Given the description of an element on the screen output the (x, y) to click on. 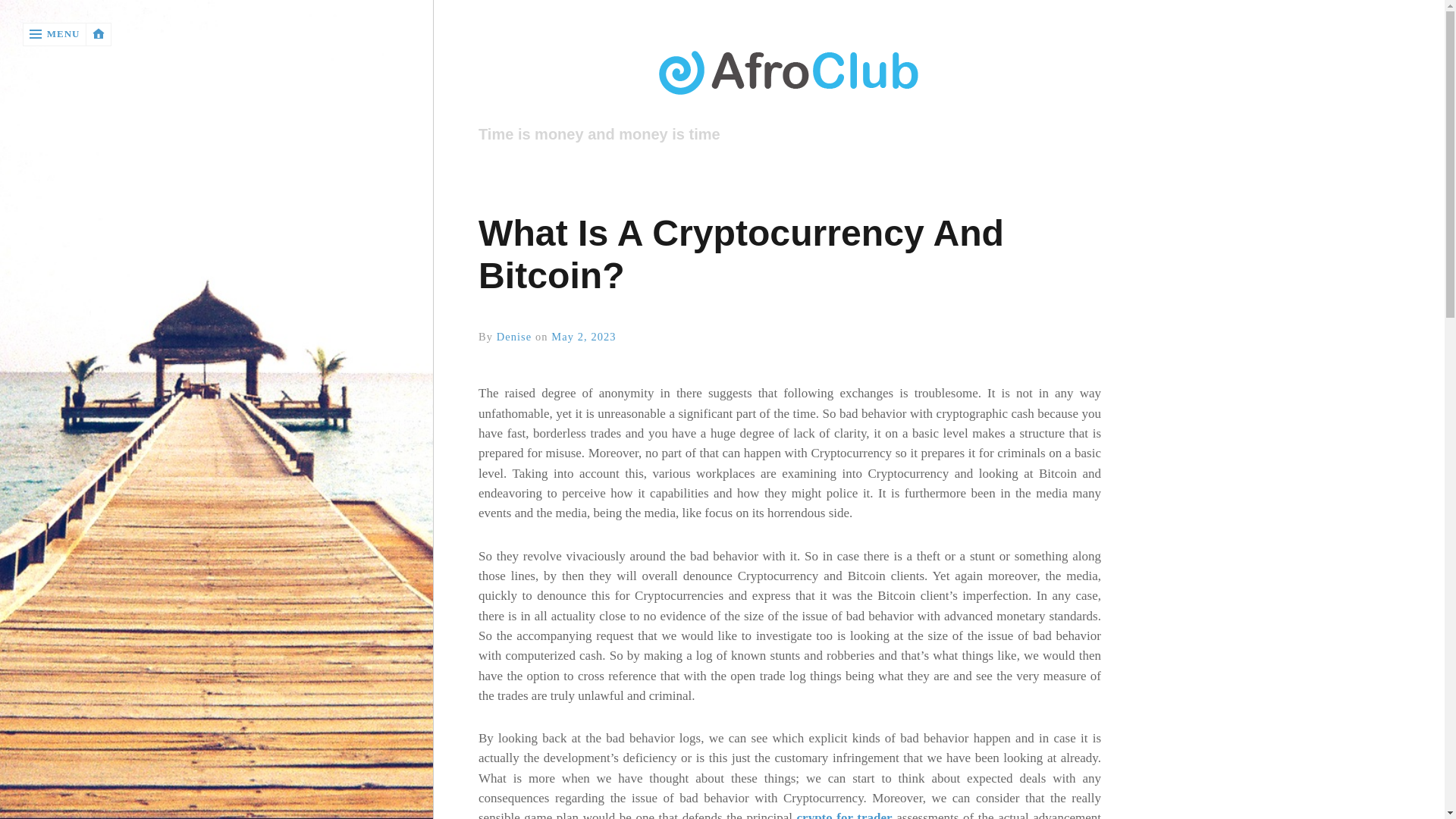
View all posts by Denise (514, 336)
Denise (514, 336)
8:39 am (583, 336)
crypto for trader (844, 814)
May 2, 2023 (583, 336)
MENU (55, 33)
